Given the description of an element on the screen output the (x, y) to click on. 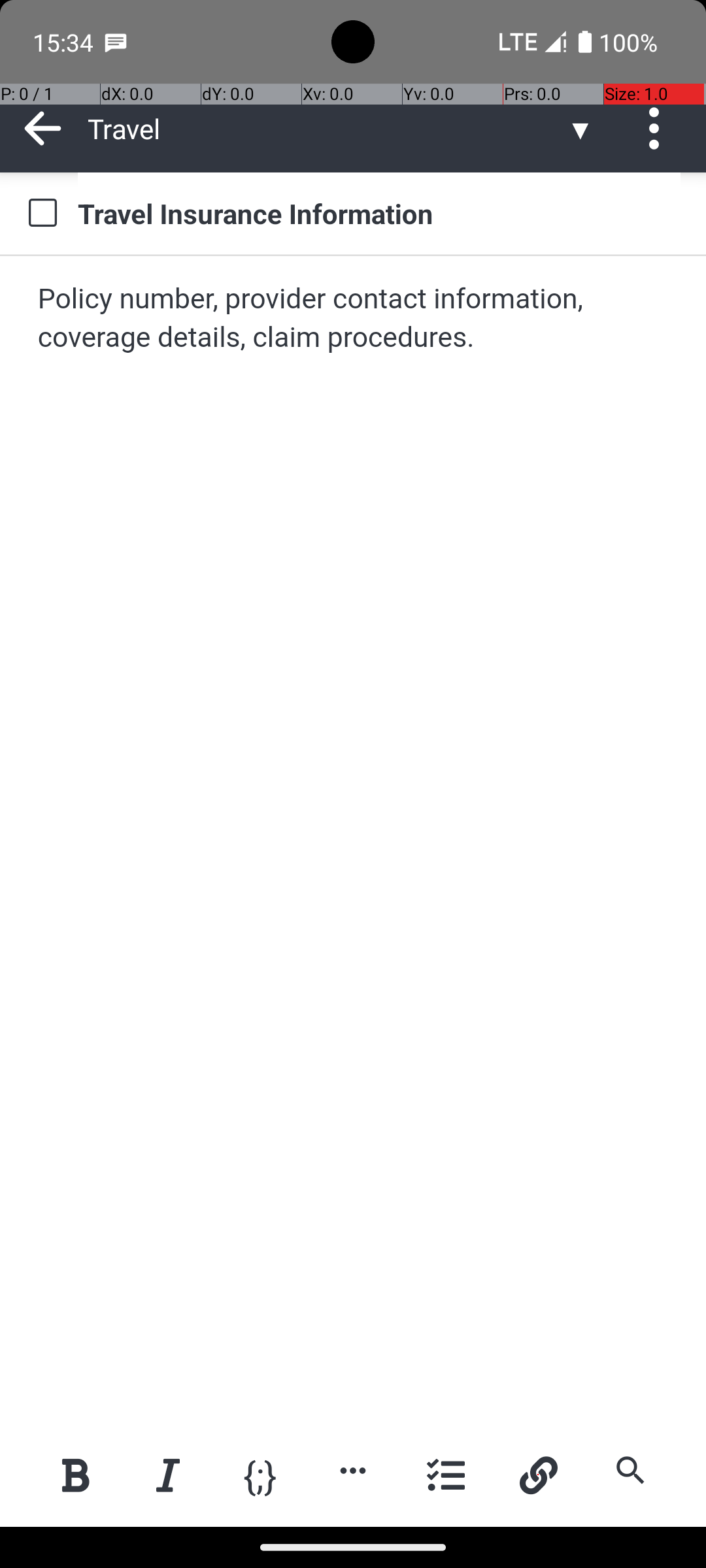
Travel Insurance Information Element type: android.widget.EditText (378, 213)
Policy number, provider contact information, coverage details, claim procedures. Element type: android.widget.EditText (354, 318)
